Given the description of an element on the screen output the (x, y) to click on. 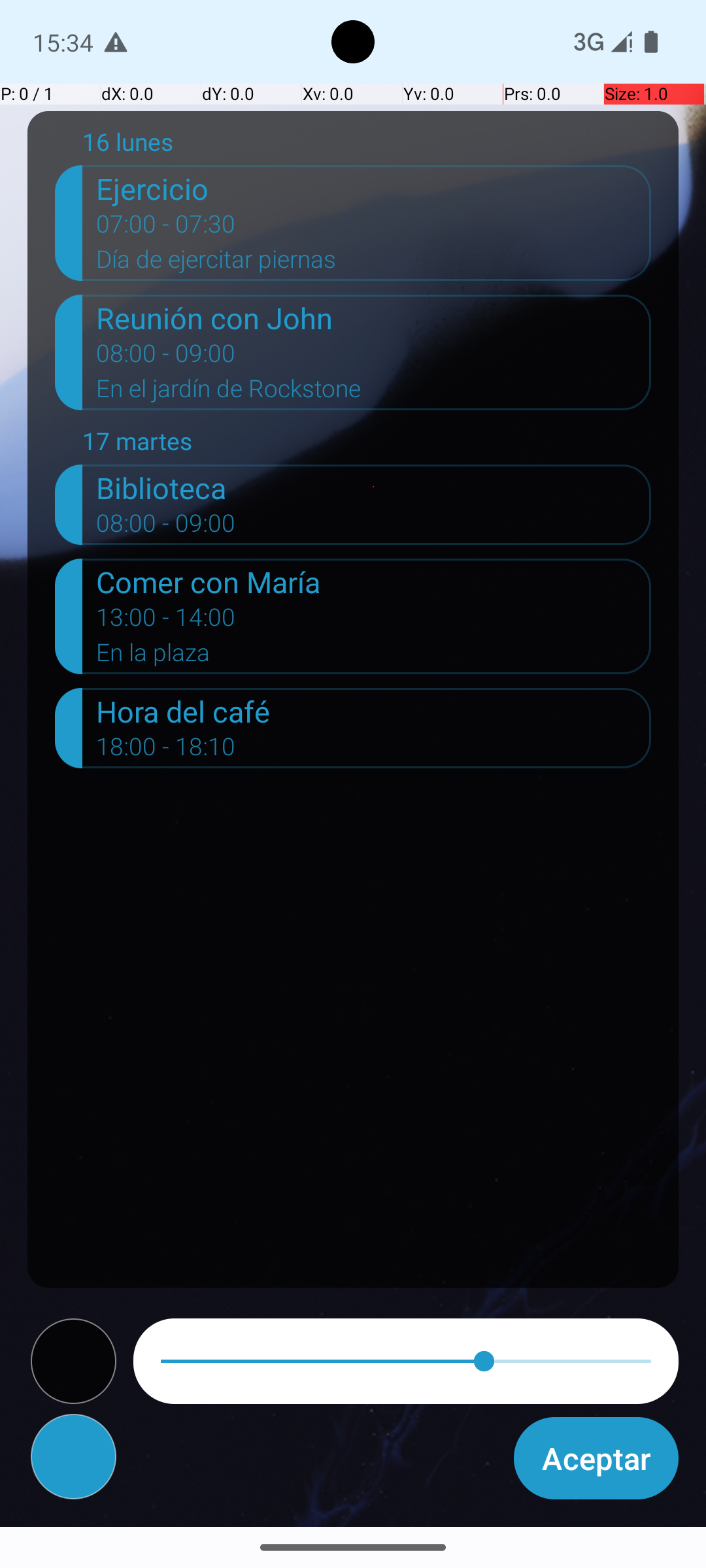
Aceptar Element type: android.widget.Button (595, 1458)
16 lunes Element type: android.widget.TextView (366, 144)
17 martes Element type: android.widget.TextView (366, 444)
Ejercicio Element type: android.widget.TextView (373, 187)
07:00 - 07:30 Element type: android.widget.TextView (165, 227)
Día de ejercitar piernas Element type: android.widget.TextView (373, 262)
Reunión con John Element type: android.widget.TextView (373, 316)
08:00 - 09:00 Element type: android.widget.TextView (165, 357)
En el jardín de Rockstone Element type: android.widget.TextView (373, 392)
Biblioteca Element type: android.widget.TextView (373, 486)
Comer con María Element type: android.widget.TextView (373, 580)
13:00 - 14:00 Element type: android.widget.TextView (165, 620)
En la plaza Element type: android.widget.TextView (373, 656)
Hora del café Element type: android.widget.TextView (373, 710)
18:00 - 18:10 Element type: android.widget.TextView (165, 750)
